Given the description of an element on the screen output the (x, y) to click on. 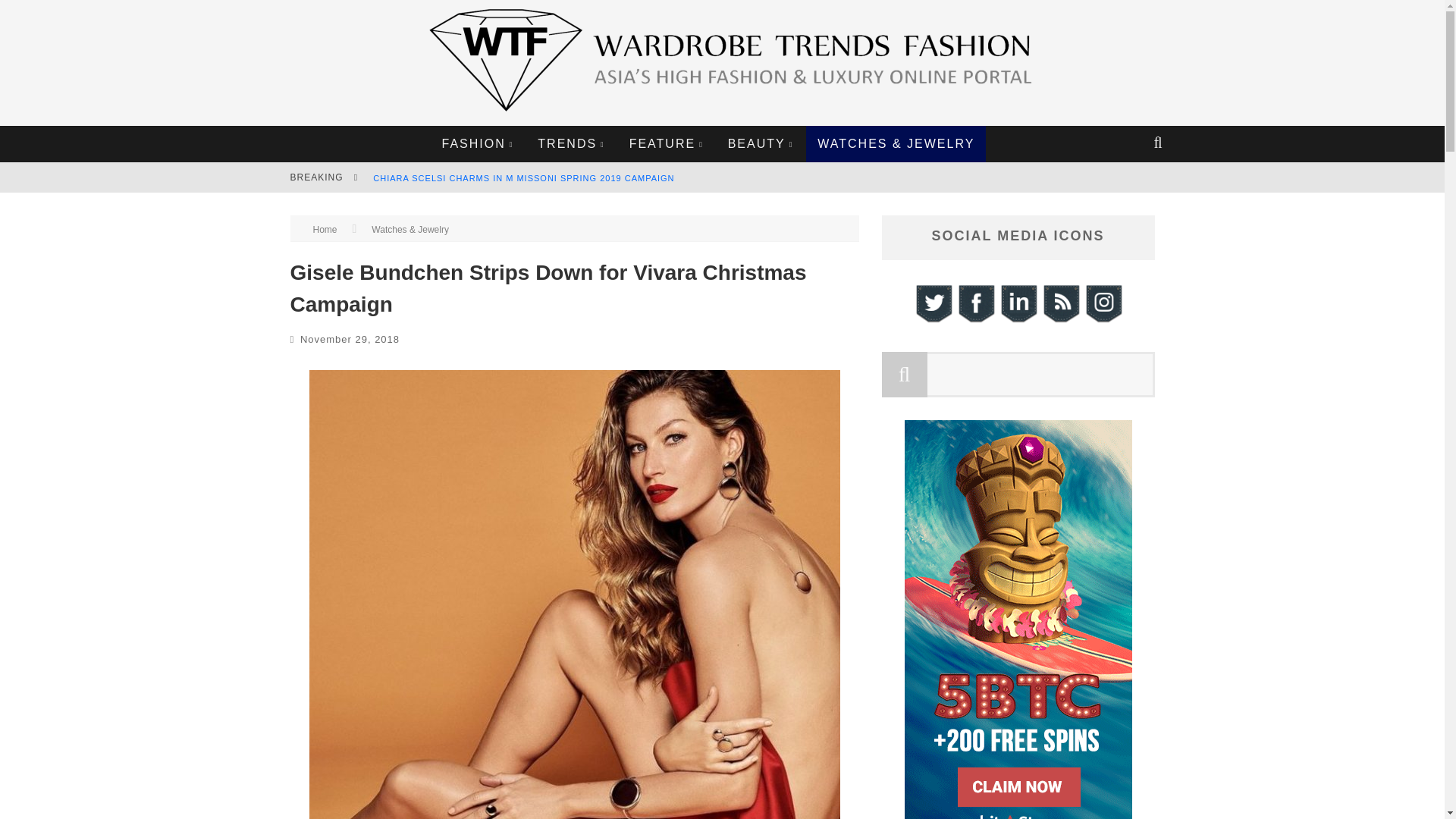
Chiara Scelsi Charms in M Missoni Spring 2019 Campaign (523, 177)
Visit Us On Twitter (932, 320)
FASHION (477, 144)
Visit Us On Linkedin (1017, 320)
Visit Us On Facebook (974, 320)
Check Our Feed (1060, 320)
Visit Us On Instagram (1102, 320)
